Given the description of an element on the screen output the (x, y) to click on. 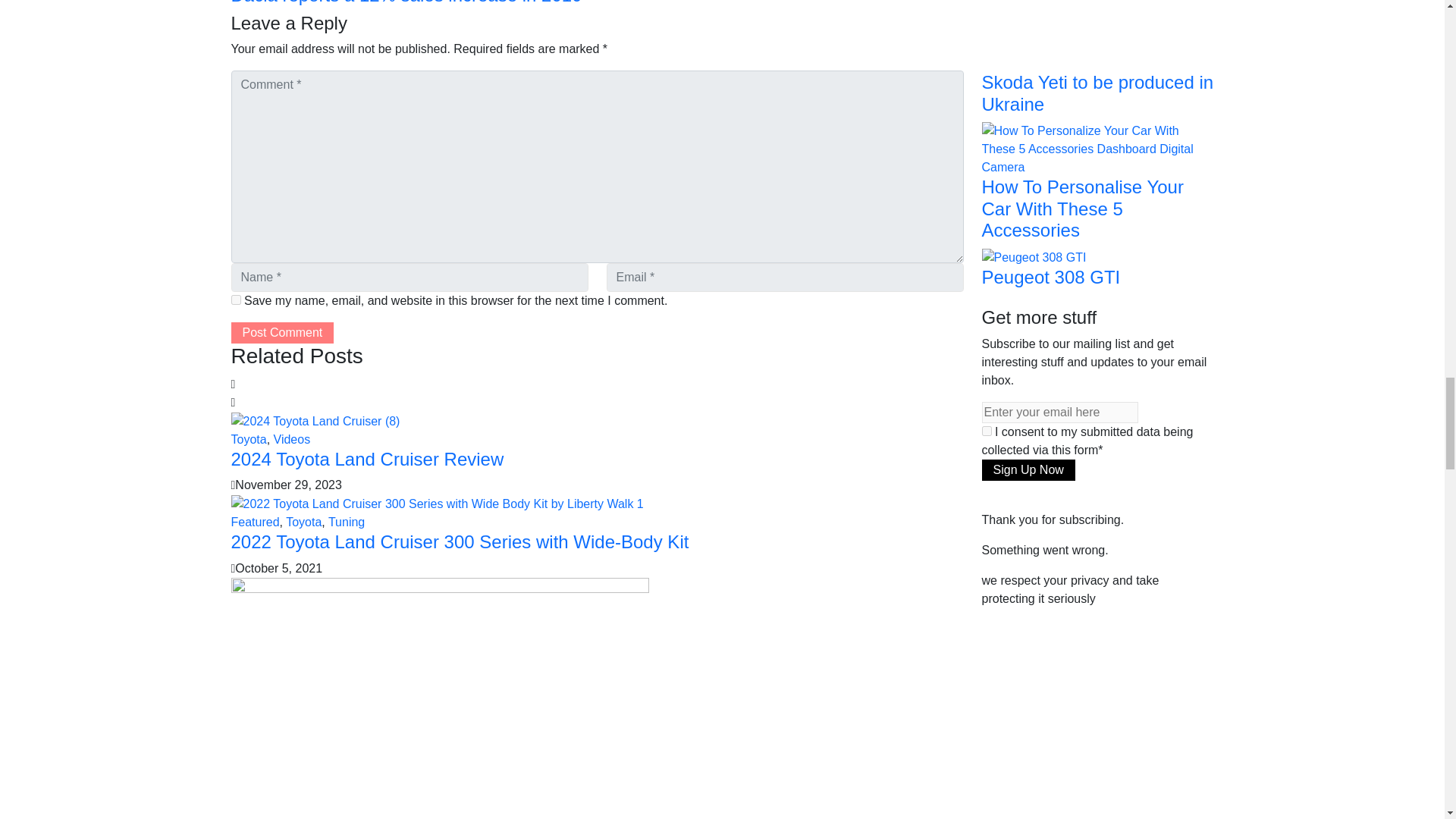
Peugeot 308 GTI (1033, 256)
Post Comment (281, 332)
yes (235, 299)
Sign Up Now (1027, 469)
on (986, 430)
How To Personalise Your Car With These 5 Accessories (1096, 147)
